Given the description of an element on the screen output the (x, y) to click on. 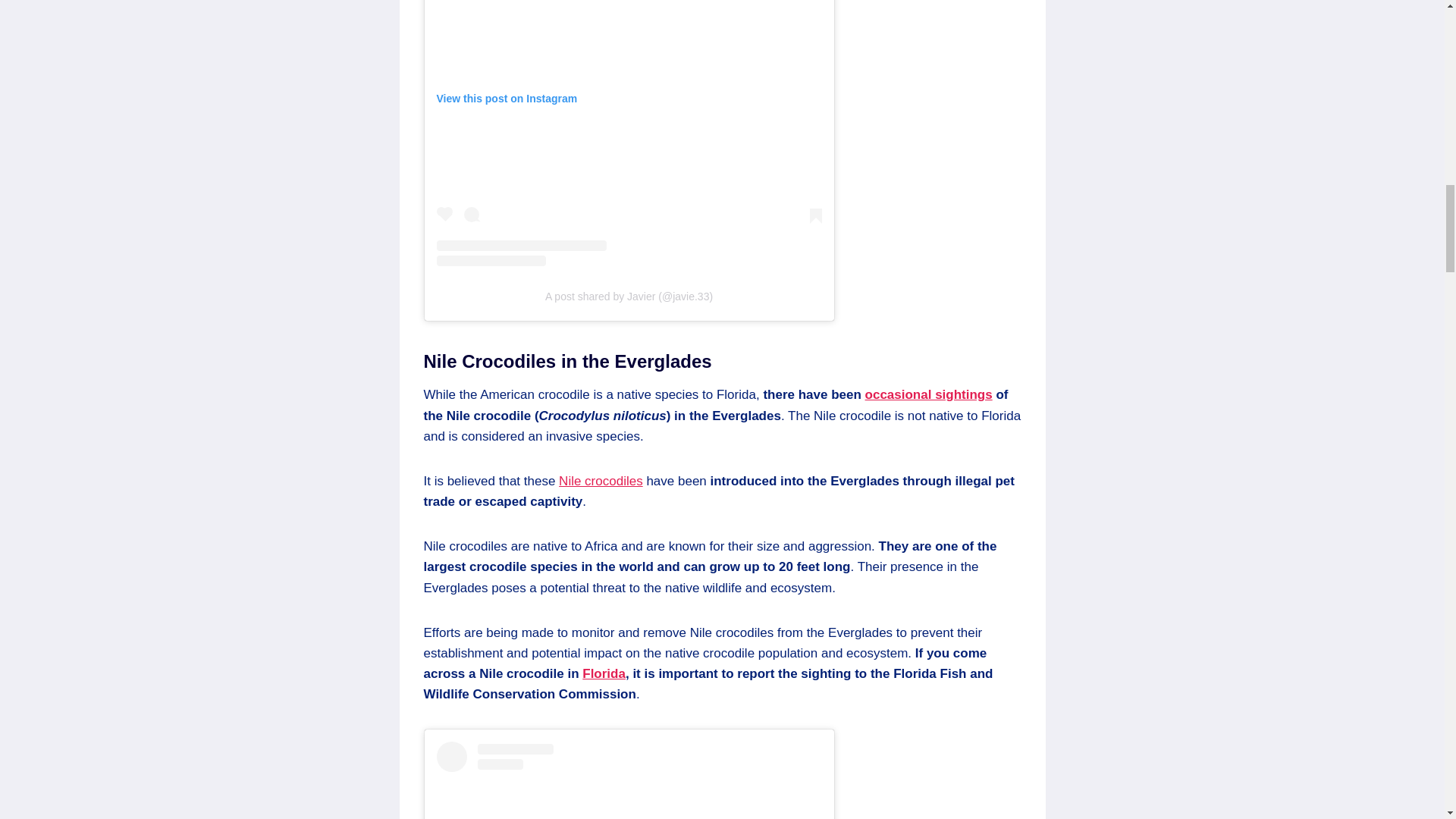
Nile crocodiles (601, 481)
Florida (604, 673)
occasional sightings (928, 394)
